Given the description of an element on the screen output the (x, y) to click on. 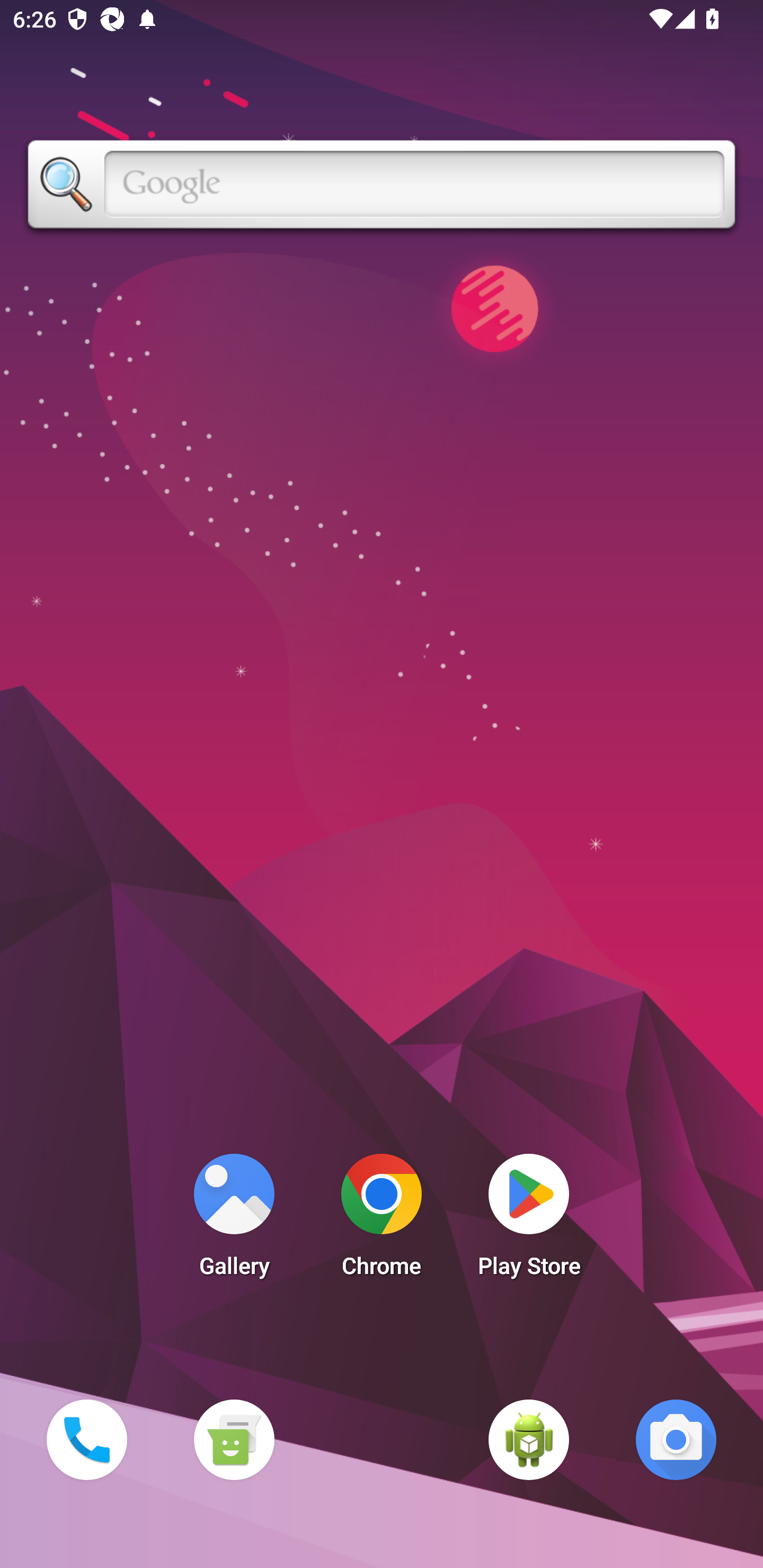
Gallery (233, 1220)
Chrome (381, 1220)
Play Store (528, 1220)
Phone (86, 1439)
Messaging (233, 1439)
WebView Browser Tester (528, 1439)
Camera (676, 1439)
